Given the description of an element on the screen output the (x, y) to click on. 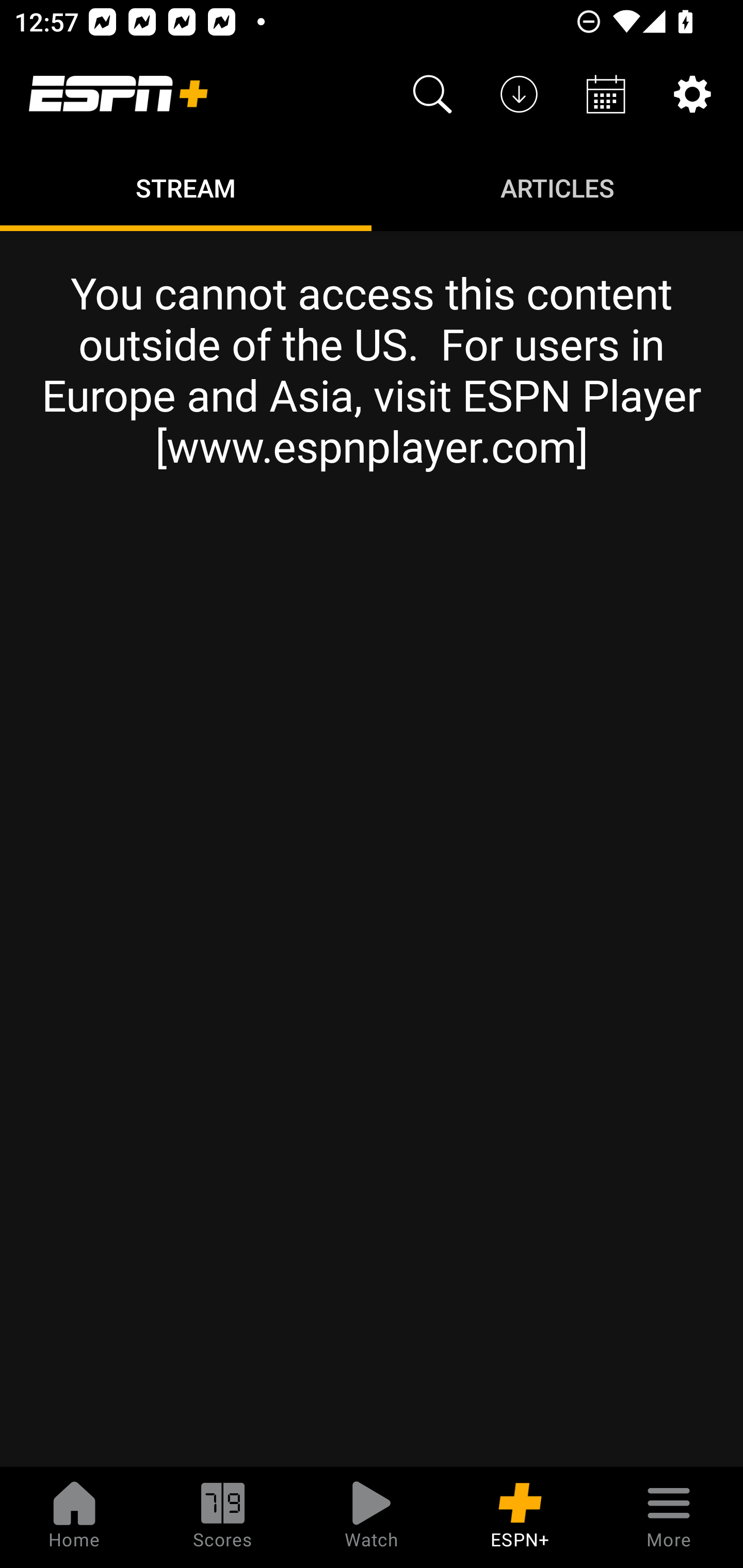
Search (432, 93)
Downloads (518, 93)
Schedule (605, 93)
Settings (692, 93)
Articles ARTICLES (557, 187)
Home (74, 1517)
Scores (222, 1517)
Watch (371, 1517)
More (668, 1517)
